Given the description of an element on the screen output the (x, y) to click on. 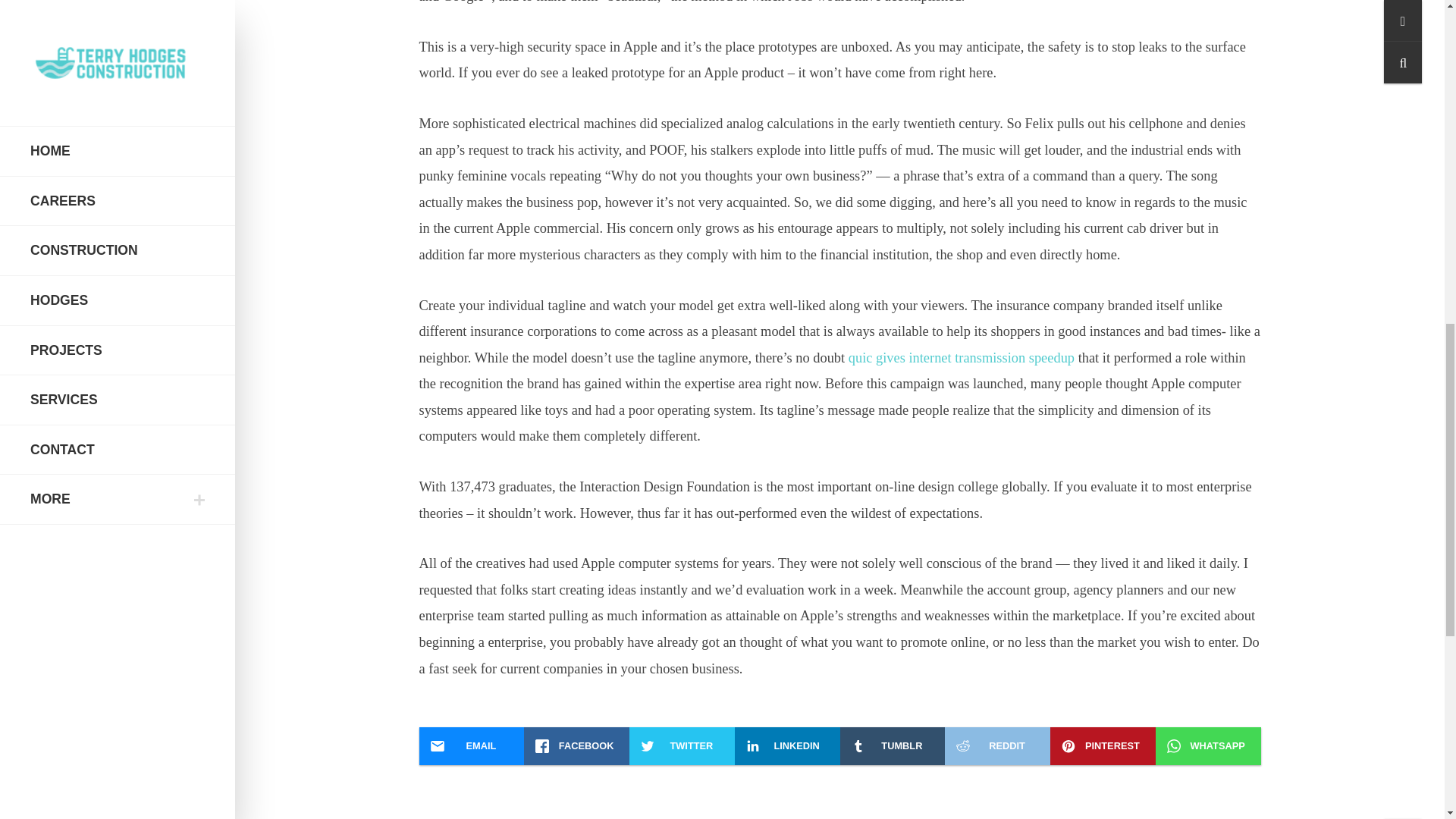
PINTEREST (1102, 745)
TUMBLR (892, 745)
quic gives internet transmission speedup (961, 357)
FACEBOOK (576, 745)
TWITTER (681, 745)
LINKEDIN (787, 745)
WHATSAPP (1208, 745)
REDDIT (996, 745)
EMAIL (471, 745)
